Given the description of an element on the screen output the (x, y) to click on. 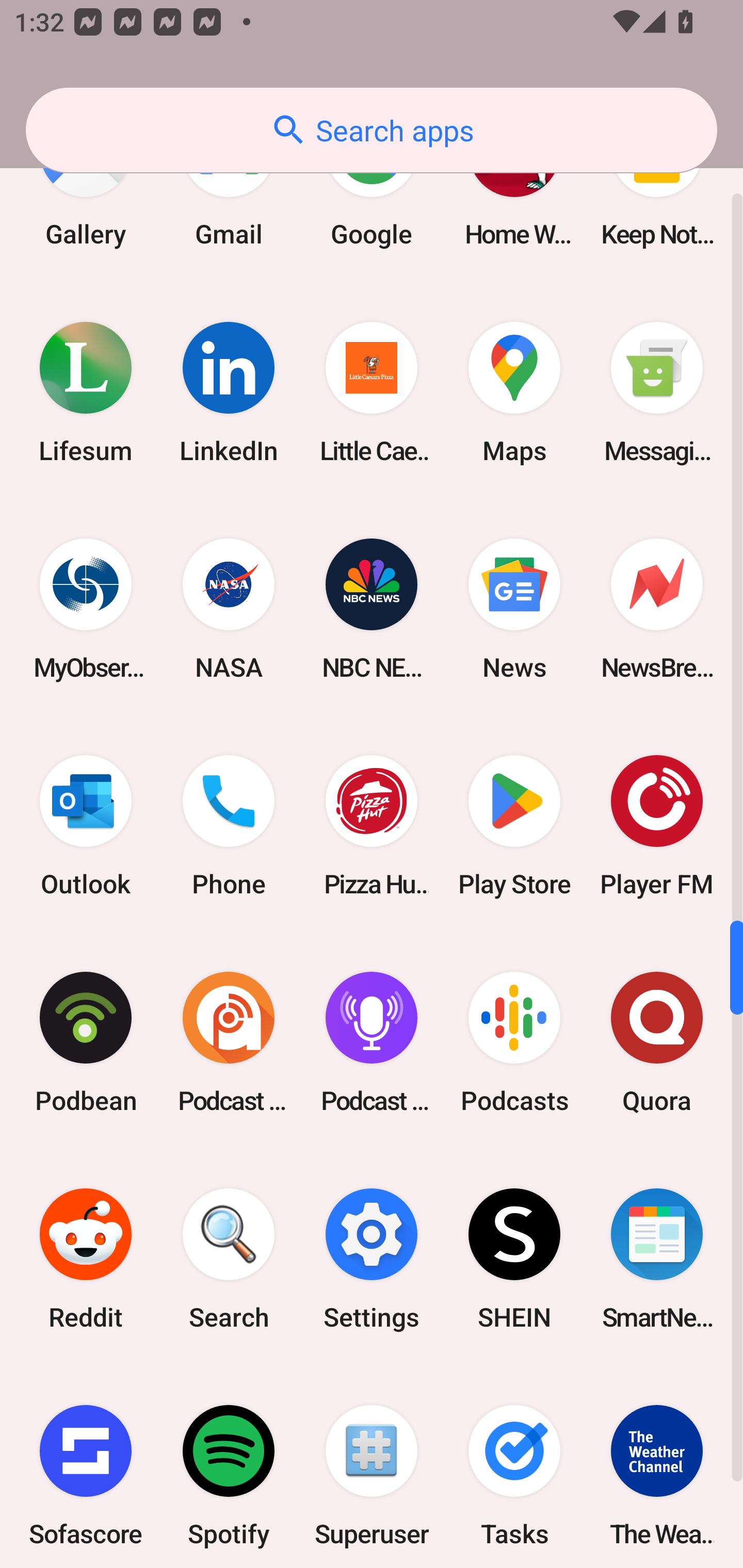
  Search apps (371, 130)
Lifesum (85, 391)
LinkedIn (228, 391)
Little Caesars Pizza (371, 391)
Maps (514, 391)
Messaging (656, 391)
MyObservatory (85, 609)
NASA (228, 609)
NBC NEWS (371, 609)
News (514, 609)
NewsBreak (656, 609)
Outlook (85, 826)
Phone (228, 826)
Pizza Hut HK & Macau (371, 826)
Play Store (514, 826)
Player FM (656, 826)
Podbean (85, 1042)
Podcast Addict (228, 1042)
Podcast Player (371, 1042)
Podcasts (514, 1042)
Quora (656, 1042)
Reddit (85, 1258)
Search (228, 1258)
Settings (371, 1258)
SHEIN (514, 1258)
SmartNews (656, 1258)
Sofascore (85, 1467)
Spotify (228, 1467)
Superuser (371, 1467)
Tasks (514, 1467)
The Weather Channel (656, 1467)
